Given the description of an element on the screen output the (x, y) to click on. 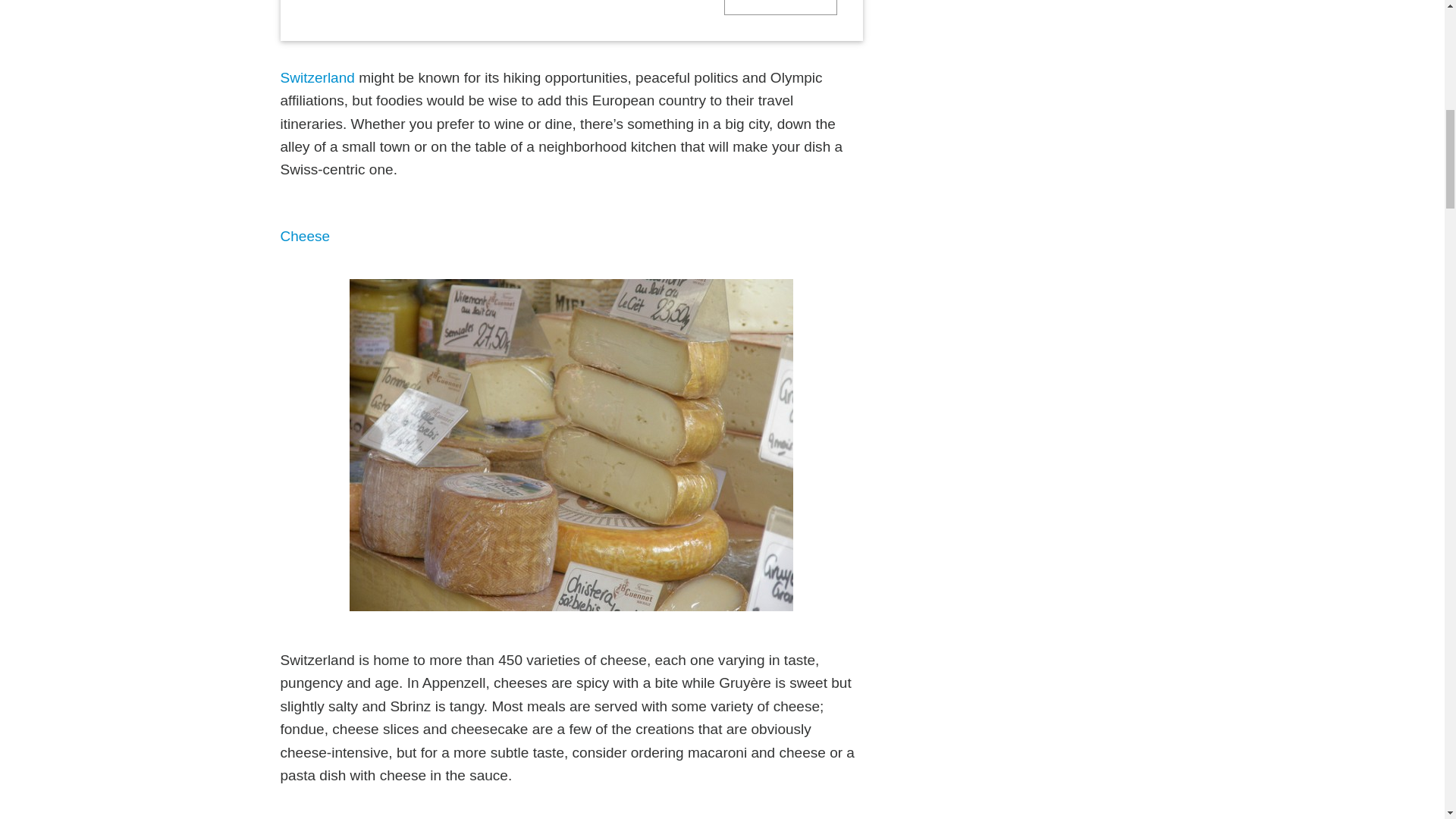
Switzerland (318, 77)
NEXT STOP (780, 7)
